Given the description of an element on the screen output the (x, y) to click on. 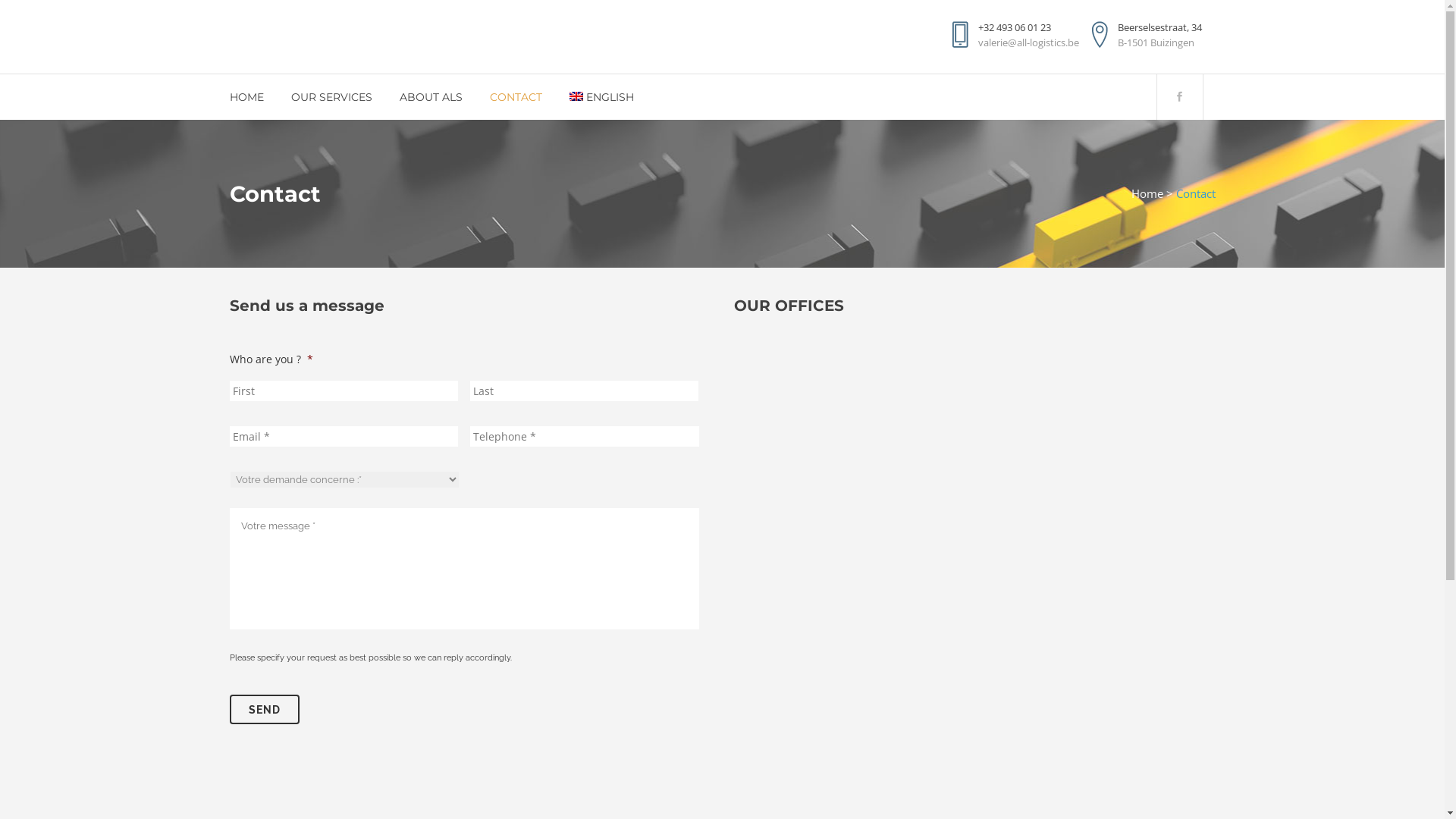
OUR SERVICES Element type: text (331, 96)
ENGLISH Element type: text (602, 96)
ABOUT ALS Element type: text (430, 96)
Home Element type: text (1147, 192)
HOME Element type: text (252, 96)
CONTACT Element type: text (515, 96)
SEND Element type: text (263, 709)
